Given the description of an element on the screen output the (x, y) to click on. 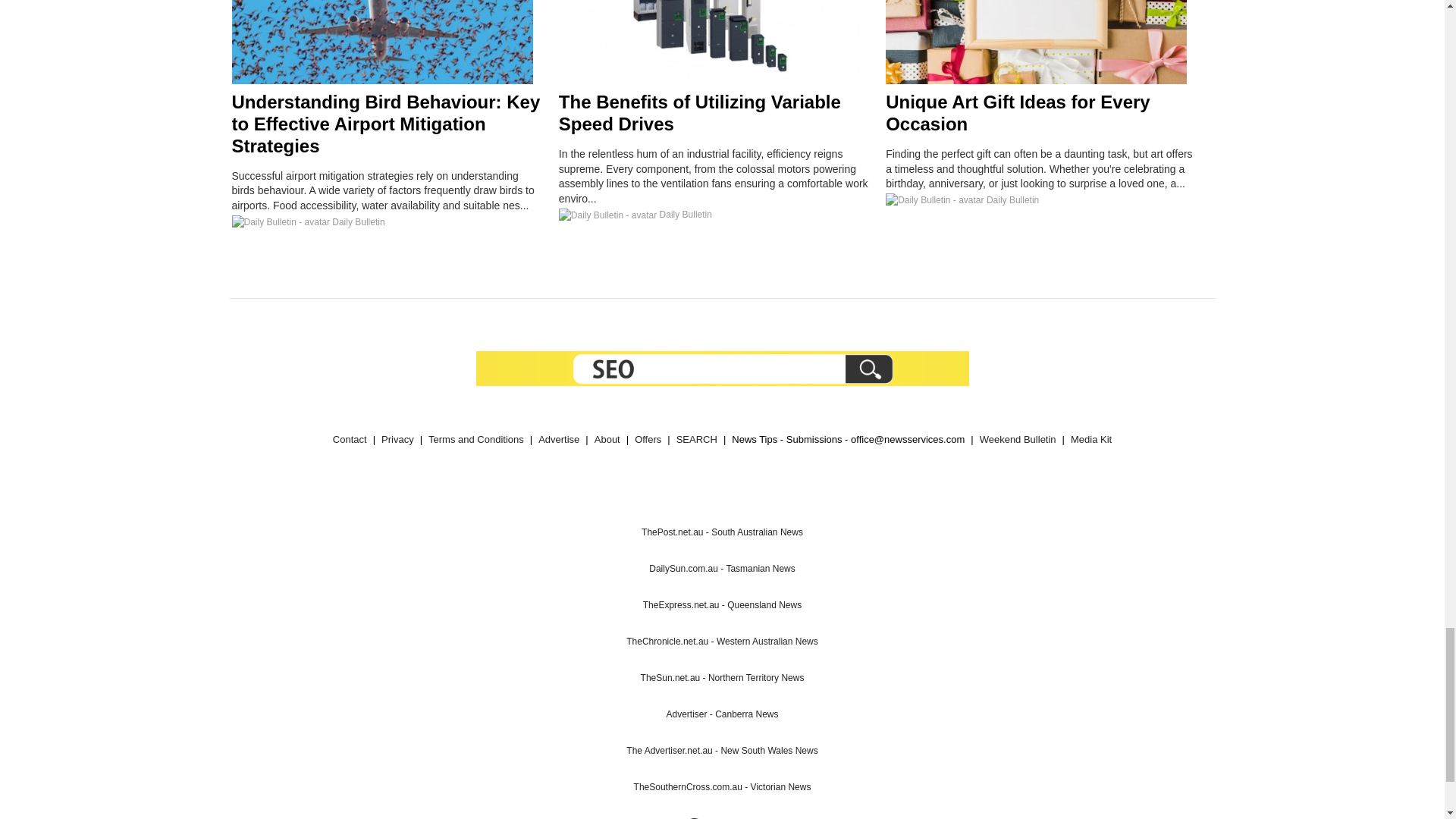
Unique Art Gift Ideas for Every Occasion (1017, 112)
The Benefits of Utilizing Variable Speed Drives (700, 112)
